Given the description of an element on the screen output the (x, y) to click on. 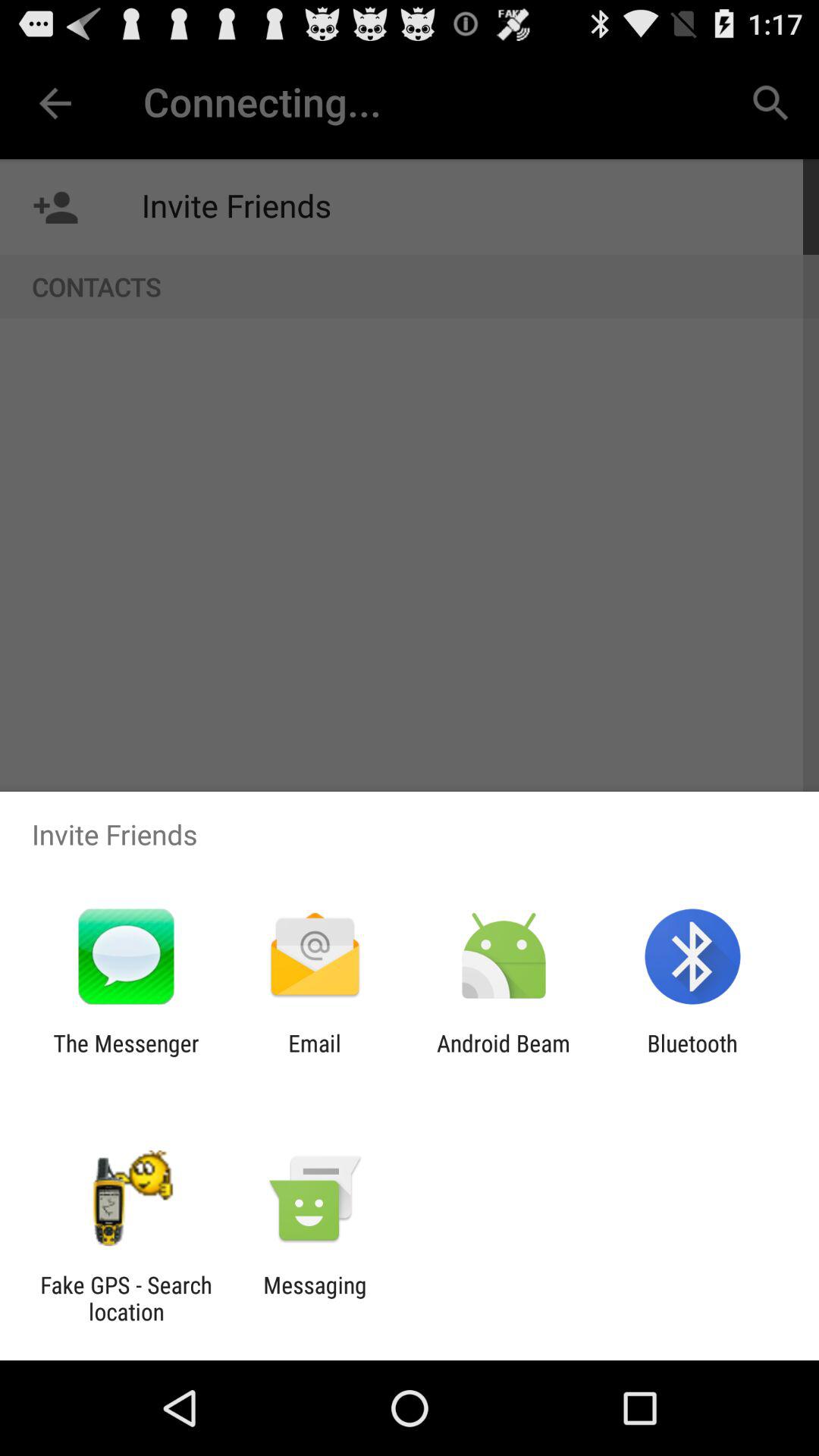
select app to the left of the messaging icon (125, 1298)
